Given the description of an element on the screen output the (x, y) to click on. 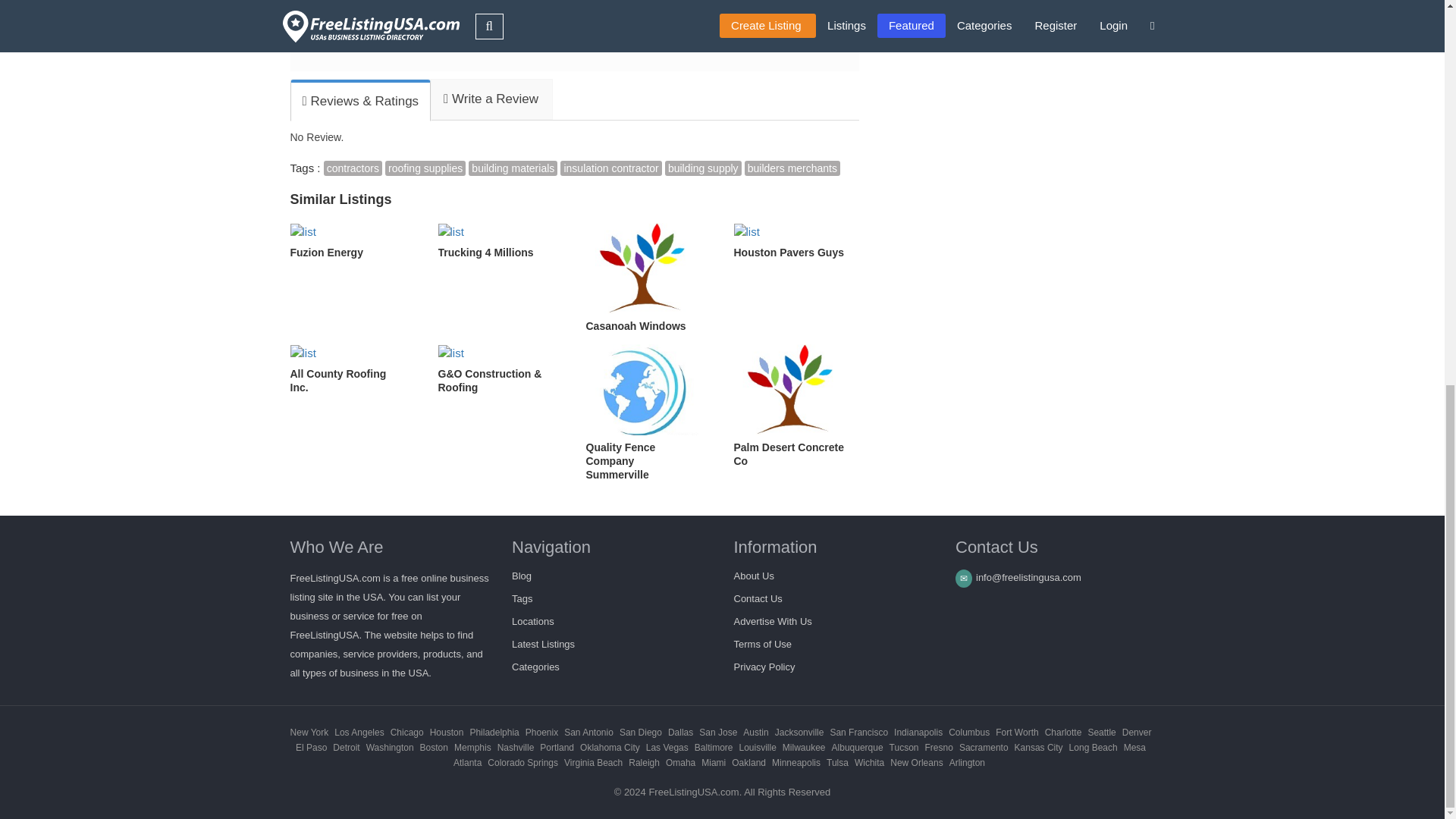
Local business listing in New York (309, 732)
Privacy Policy (763, 666)
Advertise With Us (772, 621)
Write a Review (490, 98)
Local business listing in Los Angeles (359, 732)
building materials (512, 168)
Trucking 4 Millions (500, 240)
Terms of Use (762, 644)
insulation contractor (610, 168)
builders merchants (792, 168)
